Given the description of an element on the screen output the (x, y) to click on. 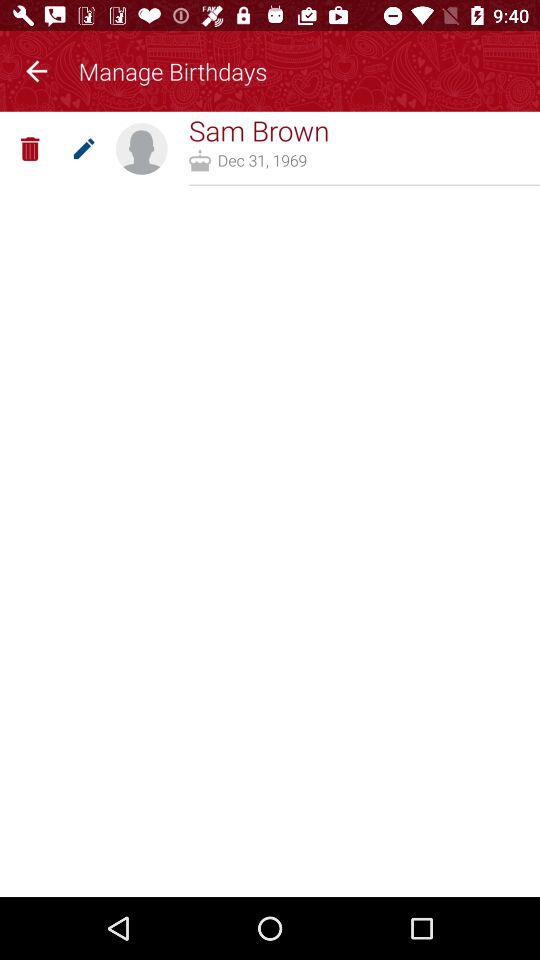
turn off the item at the top right corner (364, 184)
